Given the description of an element on the screen output the (x, y) to click on. 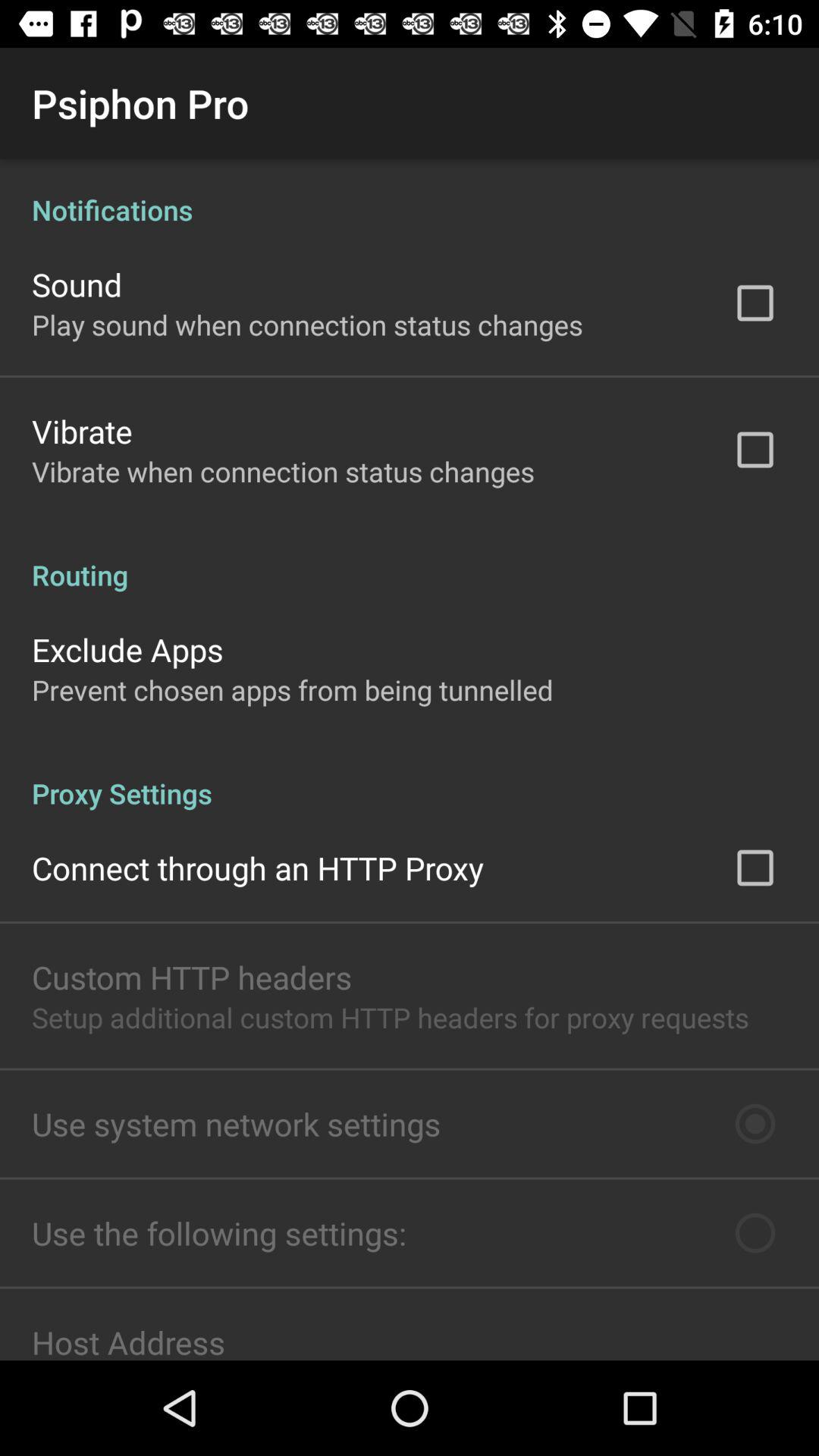
open the item below the proxy settings icon (257, 867)
